Given the description of an element on the screen output the (x, y) to click on. 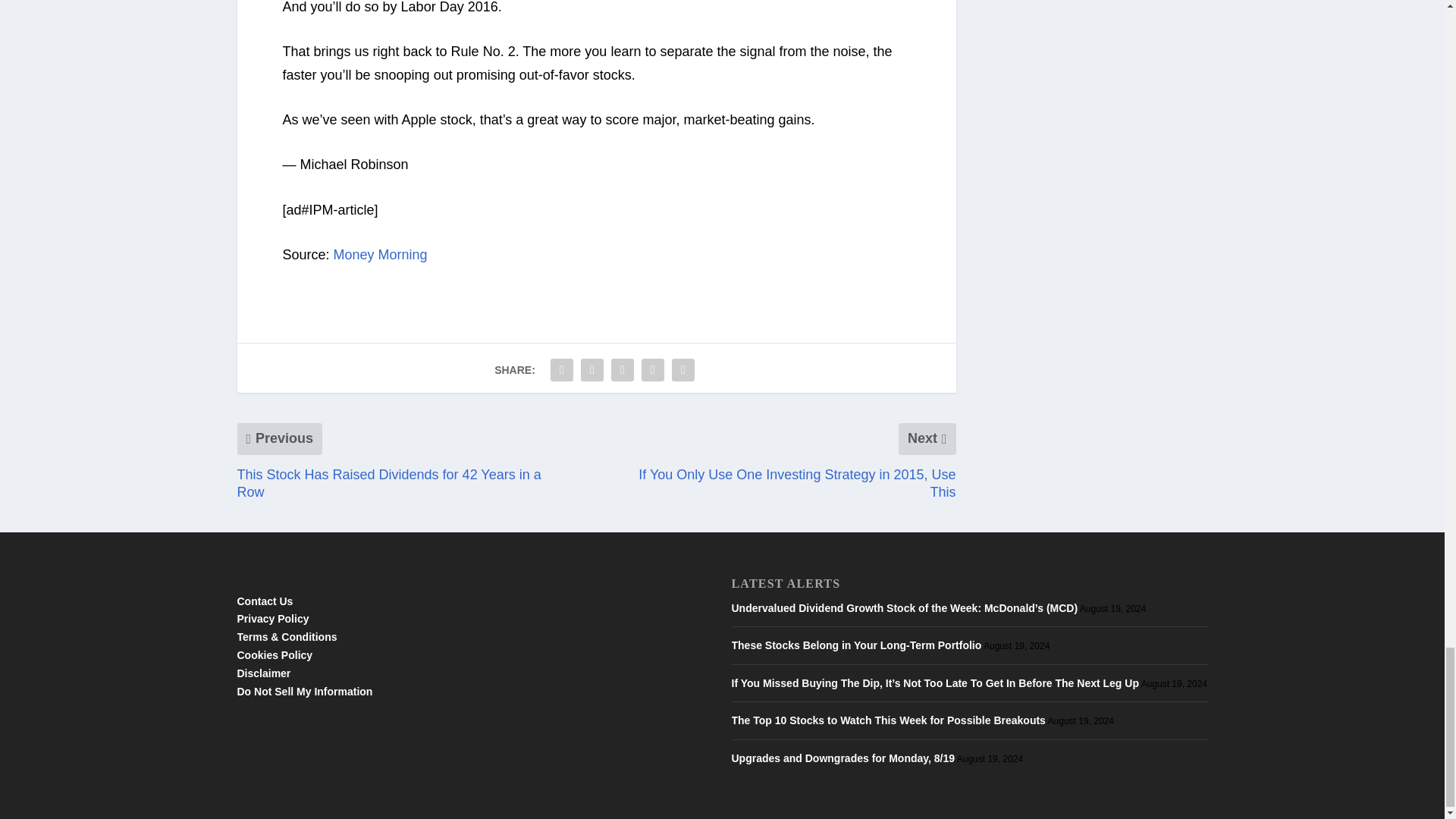
Do Not Sell My Information (303, 691)
These Stocks Belong in Your Long-Term Portfolio (855, 645)
The Top 10 Stocks to Watch This Week for Possible Breakouts (887, 720)
Privacy Policy (271, 618)
Money Morning (380, 254)
Disclaimer (262, 673)
Contact Us (263, 601)
Cookies Policy (274, 654)
